Given the description of an element on the screen output the (x, y) to click on. 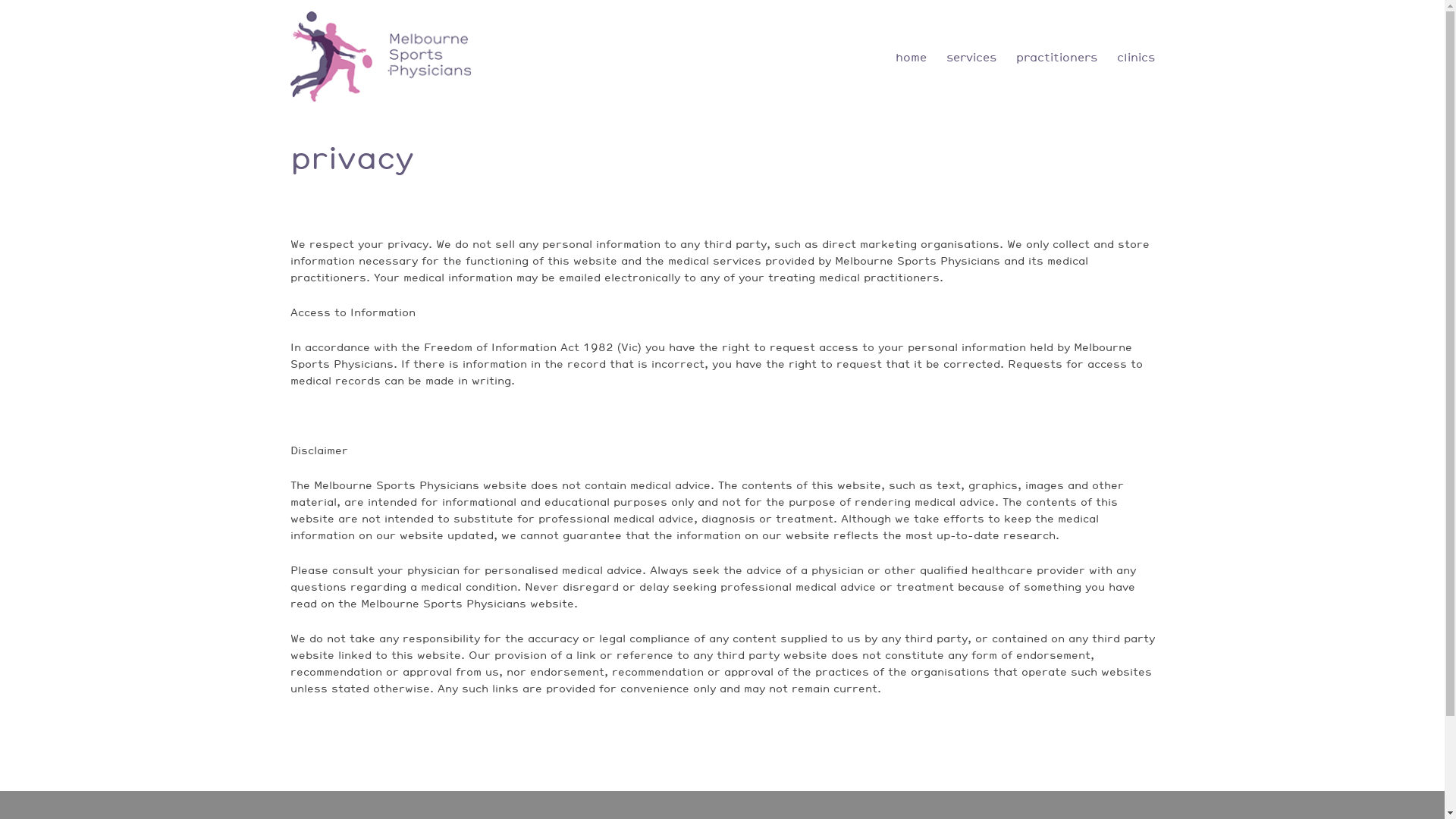
services Element type: text (971, 58)
practitioners Element type: text (1056, 58)
home Element type: text (909, 58)
clinics Element type: text (1135, 58)
